Given the description of an element on the screen output the (x, y) to click on. 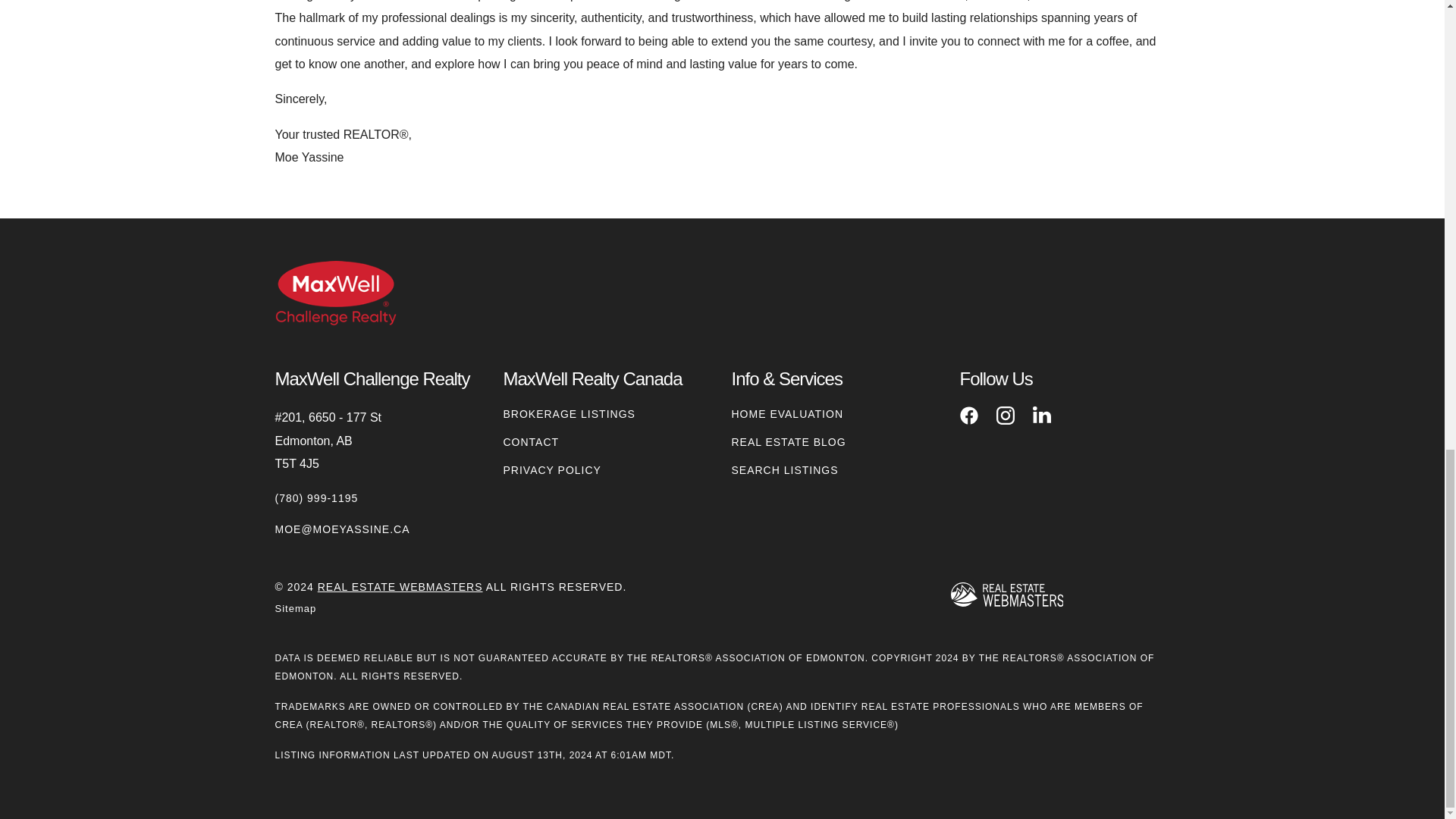
LINKEDIN FOR (1041, 415)
FACEBOOK FOR (968, 415)
INSTAGRAM FOR (1004, 415)
